Given the description of an element on the screen output the (x, y) to click on. 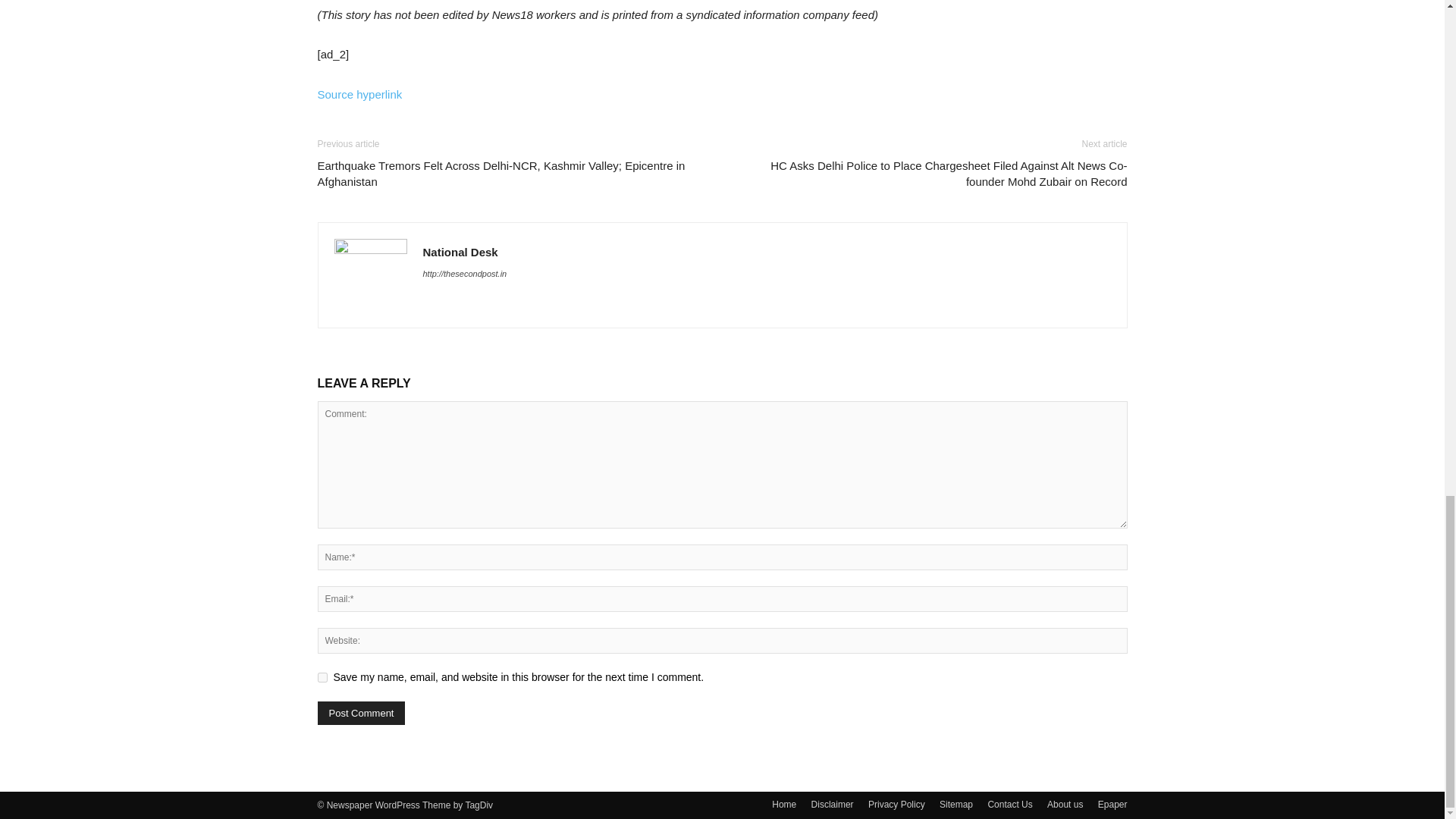
Post Comment (360, 712)
yes (321, 677)
